Given the description of an element on the screen output the (x, y) to click on. 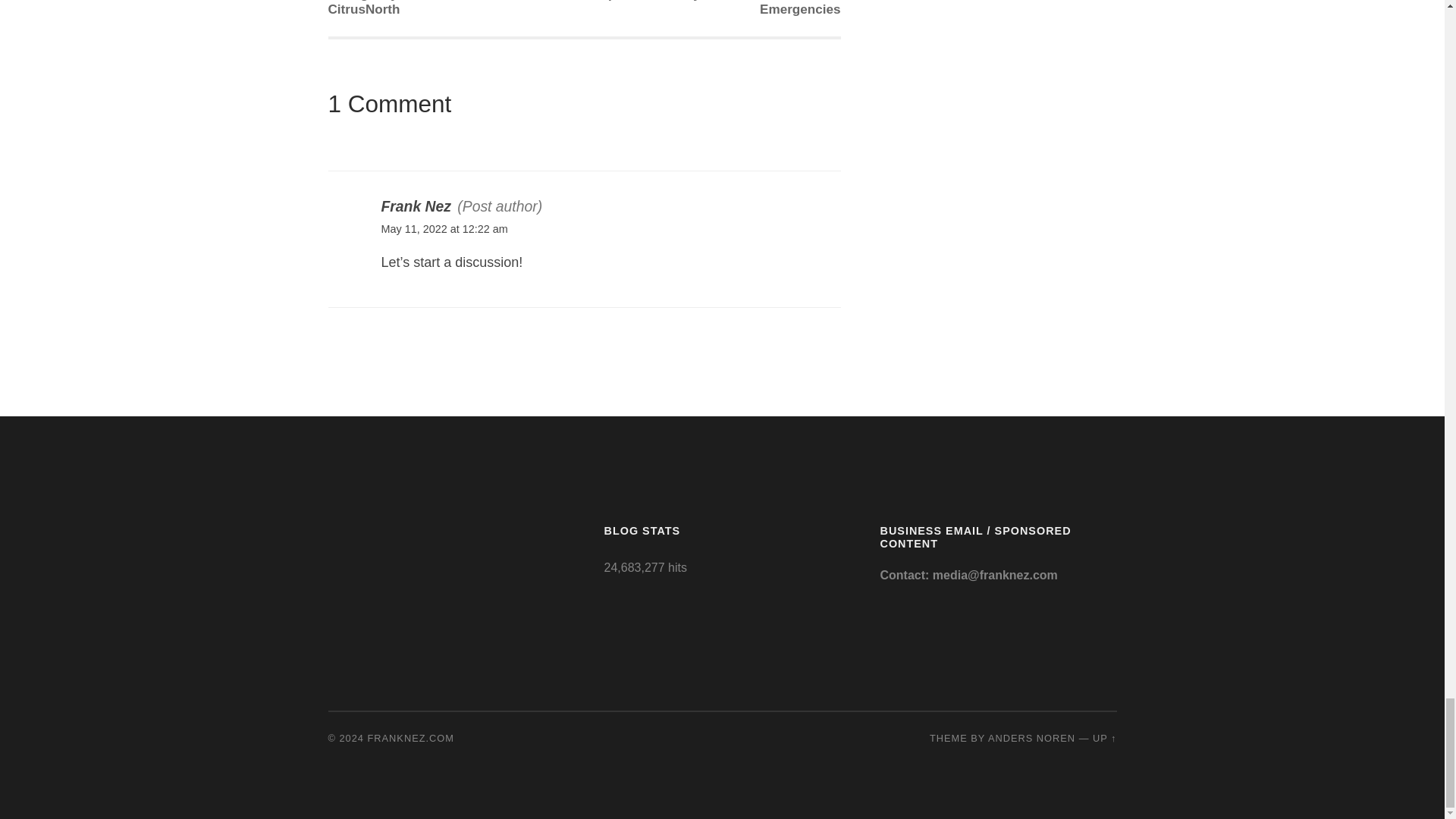
May 11, 2022 at 12:22 am (443, 228)
Frank Nez (414, 206)
